Given the description of an element on the screen output the (x, y) to click on. 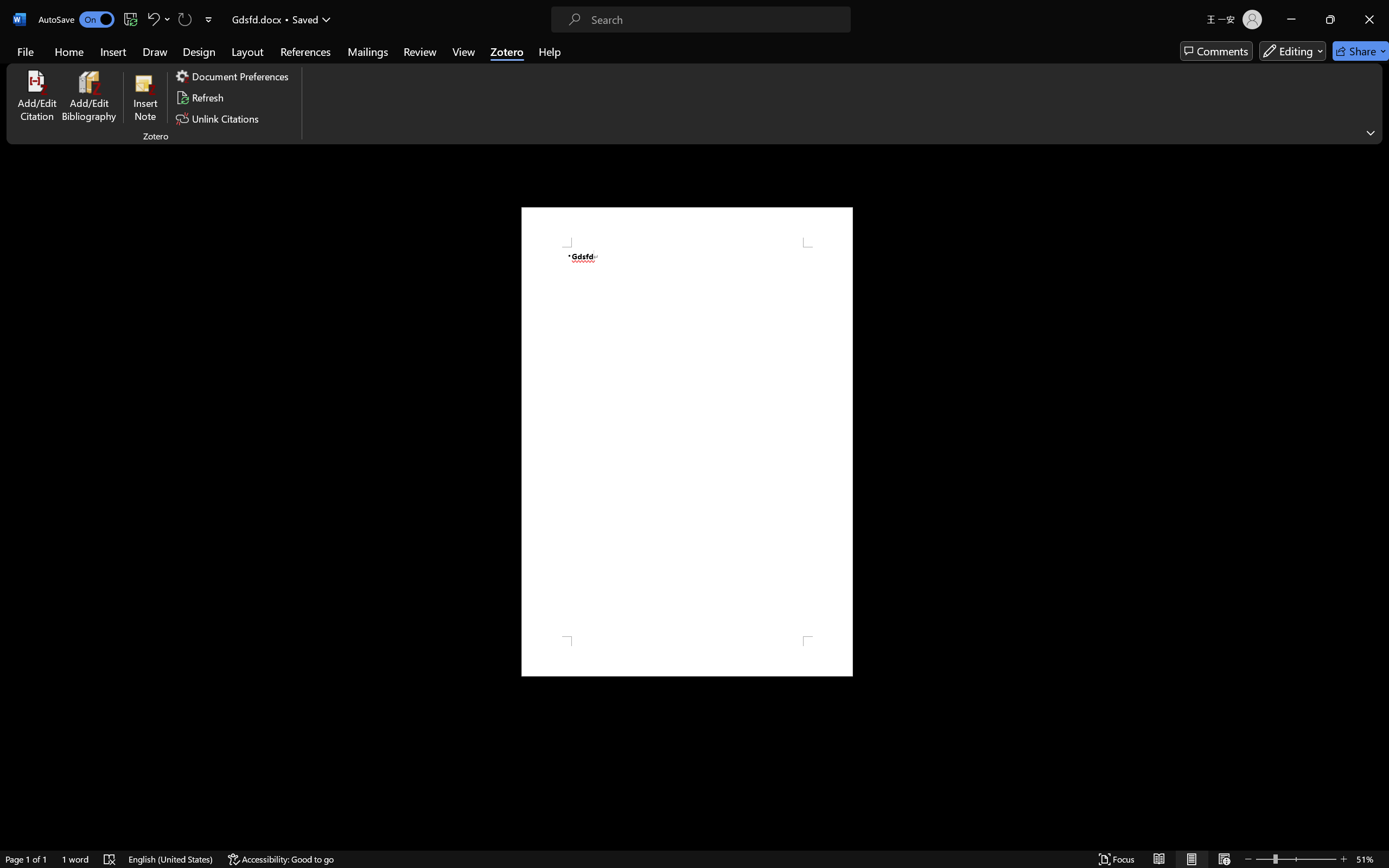
Page 1 content (686, 441)
